Given the description of an element on the screen output the (x, y) to click on. 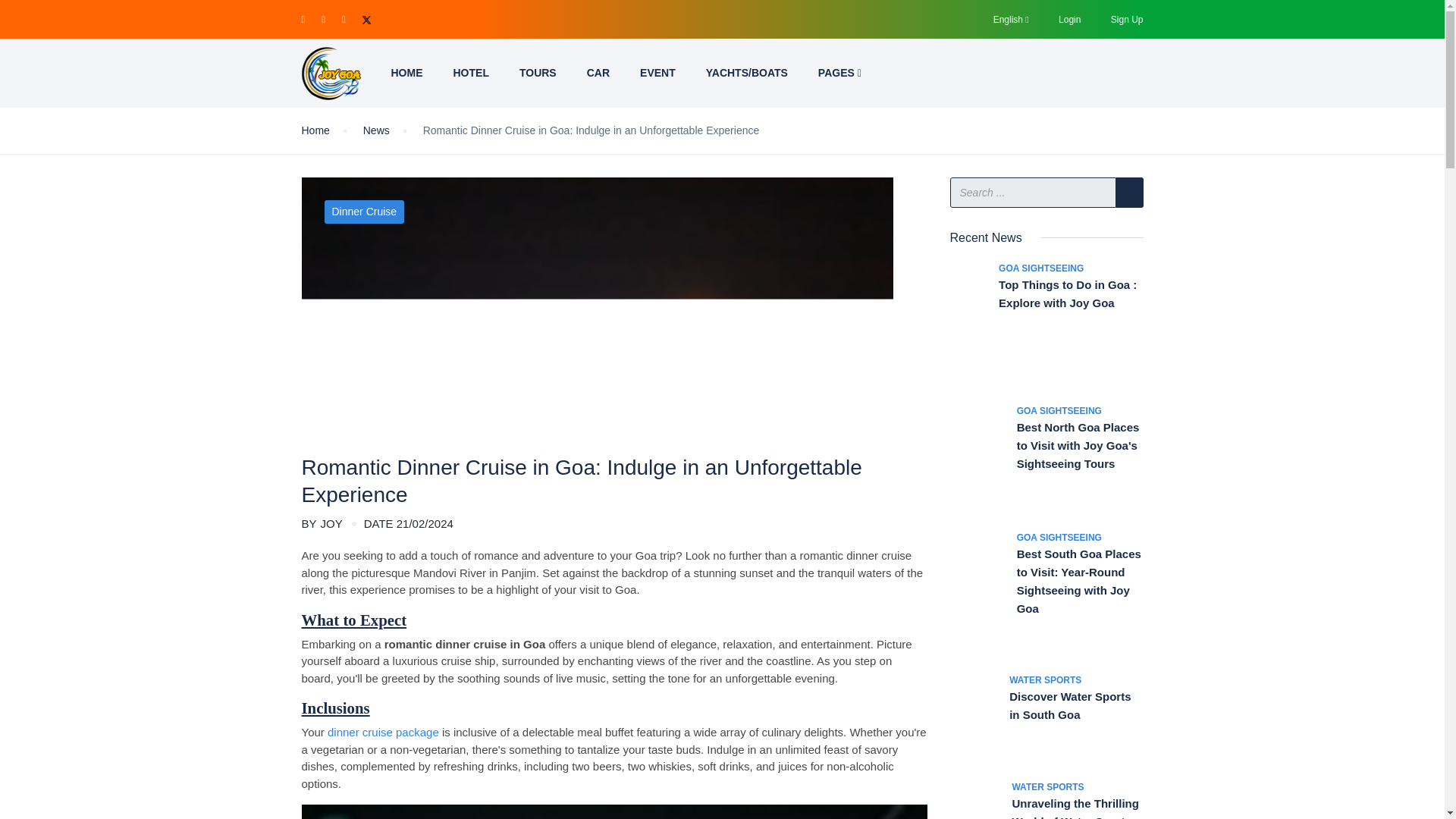
Home (315, 130)
Dinner Cruise (364, 211)
News (376, 130)
PAGES (839, 72)
HOTEL (470, 72)
Login (1069, 18)
dinner cruise package (383, 731)
TOURS (537, 72)
HOME (406, 72)
EVENT (657, 72)
